Given the description of an element on the screen output the (x, y) to click on. 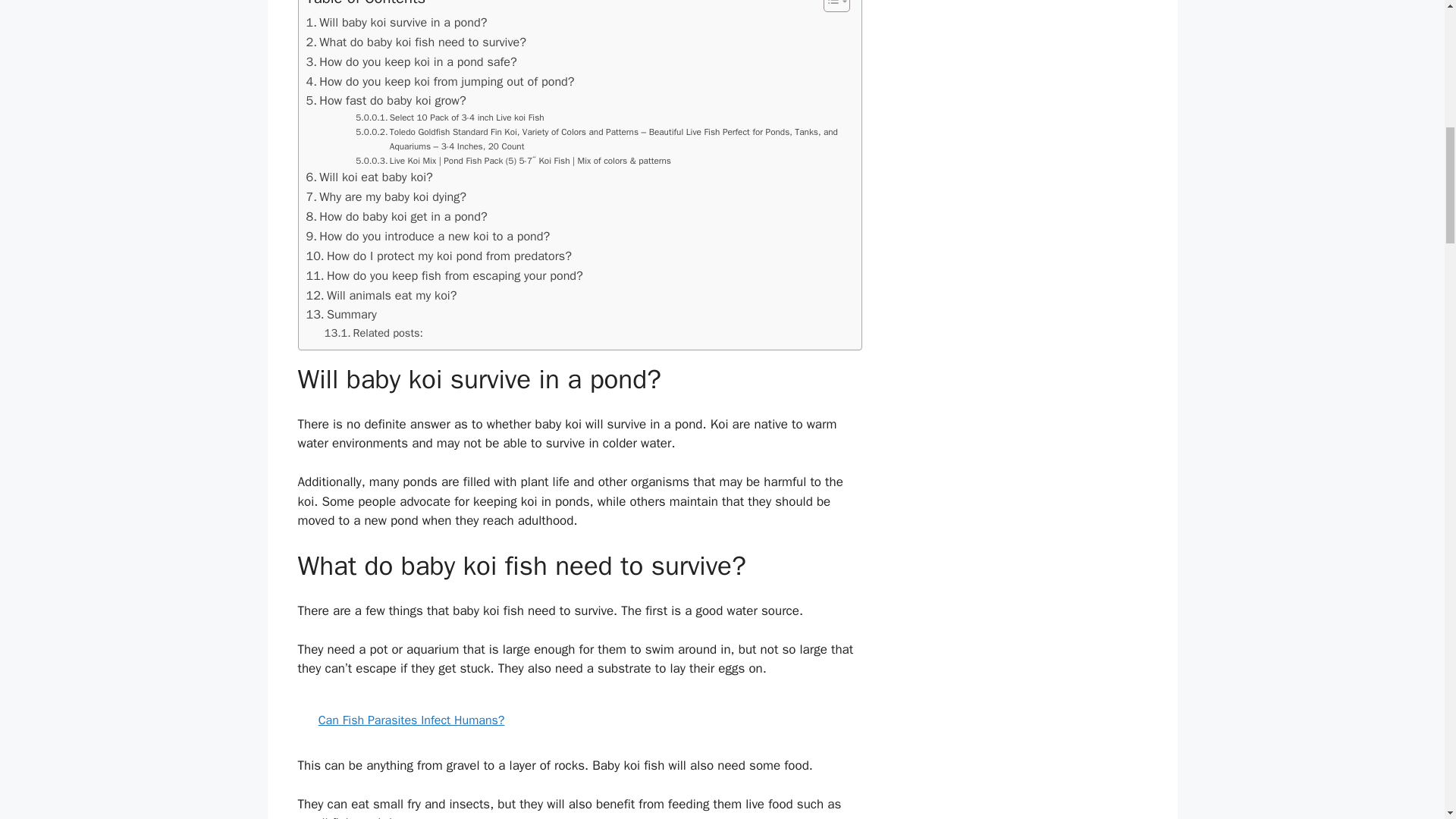
How do baby koi get in a pond? (396, 216)
How do you keep koi in a pond safe? (410, 62)
How do you keep koi from jumping out of pond? (440, 81)
How fast do baby koi grow? (385, 100)
Will koi eat baby koi? (368, 177)
Will baby koi survive in a pond? (396, 22)
How do you introduce a new koi to a pond? (427, 236)
Will koi eat baby koi? (368, 177)
What do baby koi fish need to survive? (415, 42)
How do baby koi get in a pond? (396, 216)
